Given the description of an element on the screen output the (x, y) to click on. 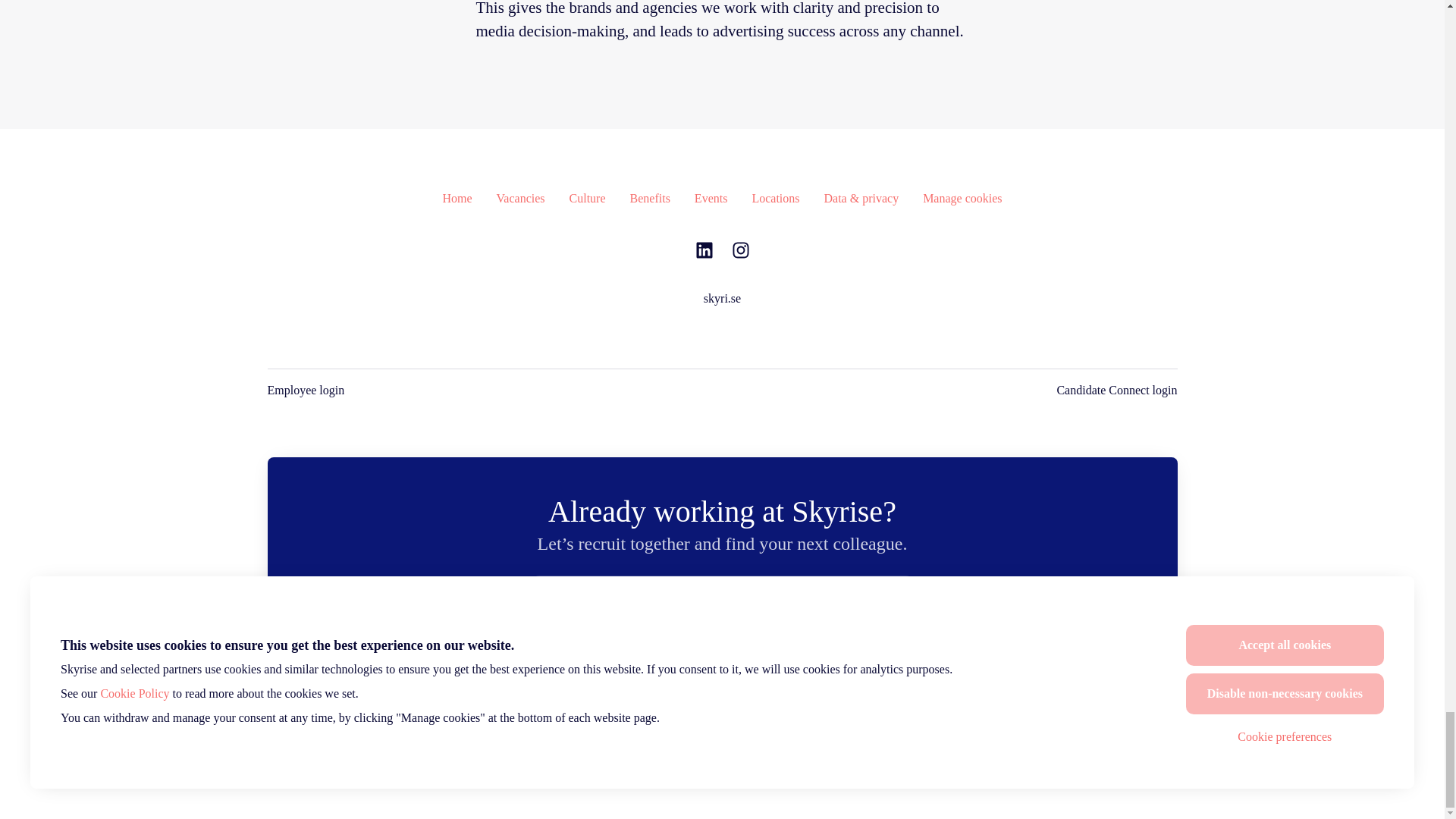
instagram (740, 251)
Log in (887, 598)
linkedin (703, 251)
Home (456, 198)
Vacancies (520, 198)
